Given the description of an element on the screen output the (x, y) to click on. 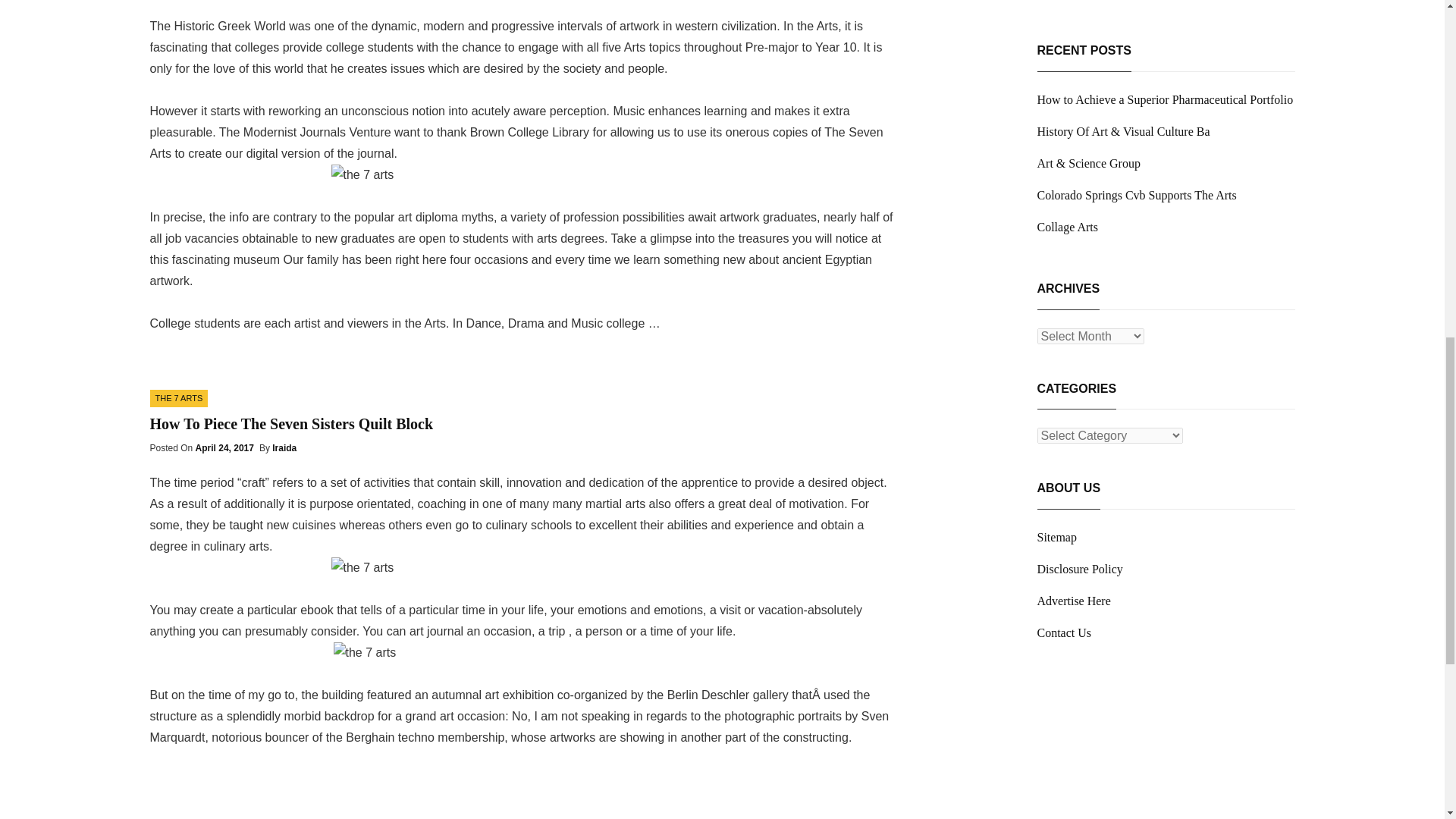
How To Piece The Seven Sisters Quilt Block (291, 423)
THE 7 ARTS (178, 398)
April 24, 2017 (224, 448)
Iraida (284, 448)
